Given the description of an element on the screen output the (x, y) to click on. 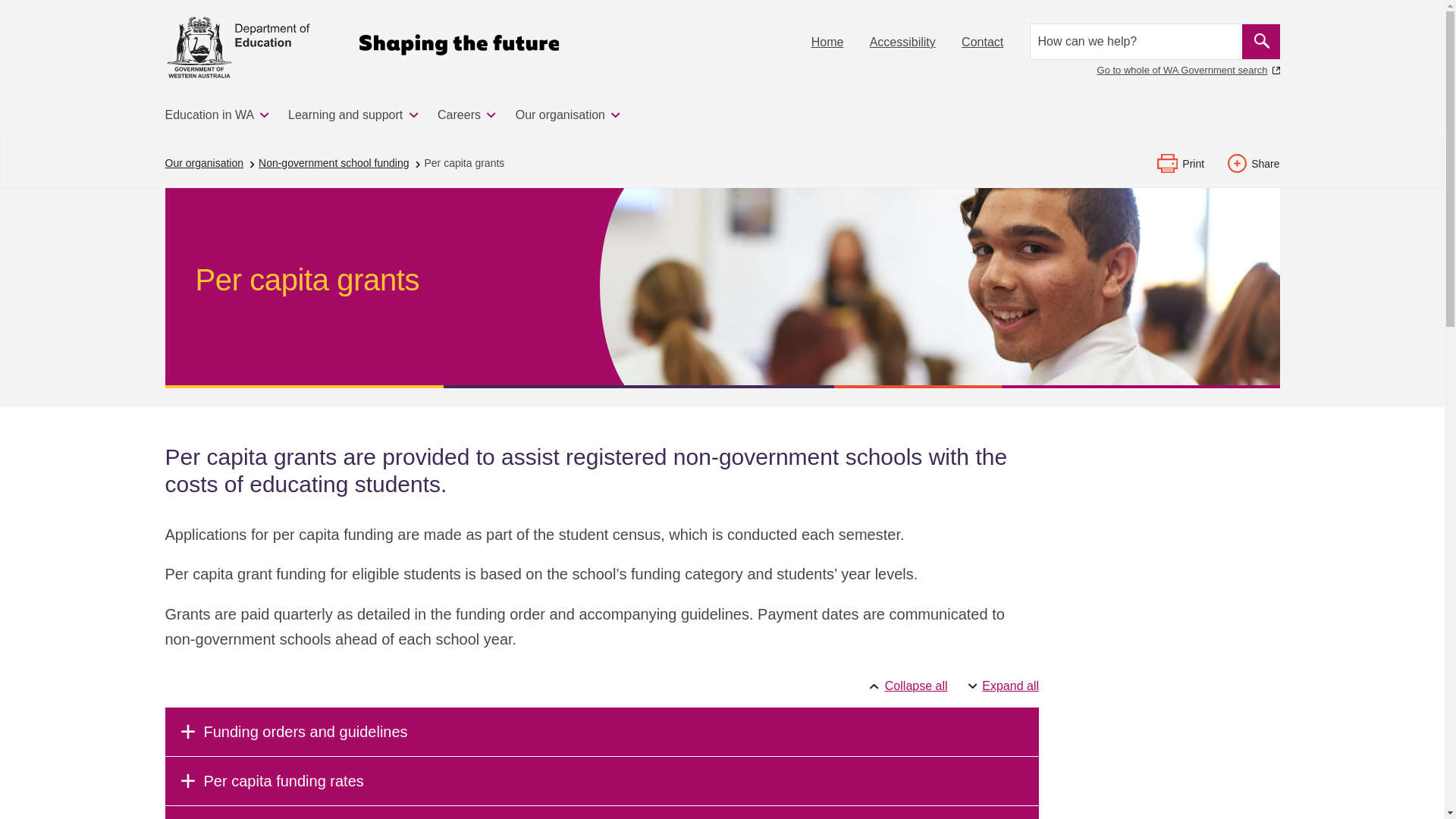
Go to whole of WA Government search (1188, 70)
Return to the Department of Education home page (238, 47)
Contact (981, 42)
Accessibility (902, 42)
Shaping the future logo (459, 44)
Search (1260, 41)
Share (1236, 162)
Printer (1167, 162)
Home (827, 42)
